Given the description of an element on the screen output the (x, y) to click on. 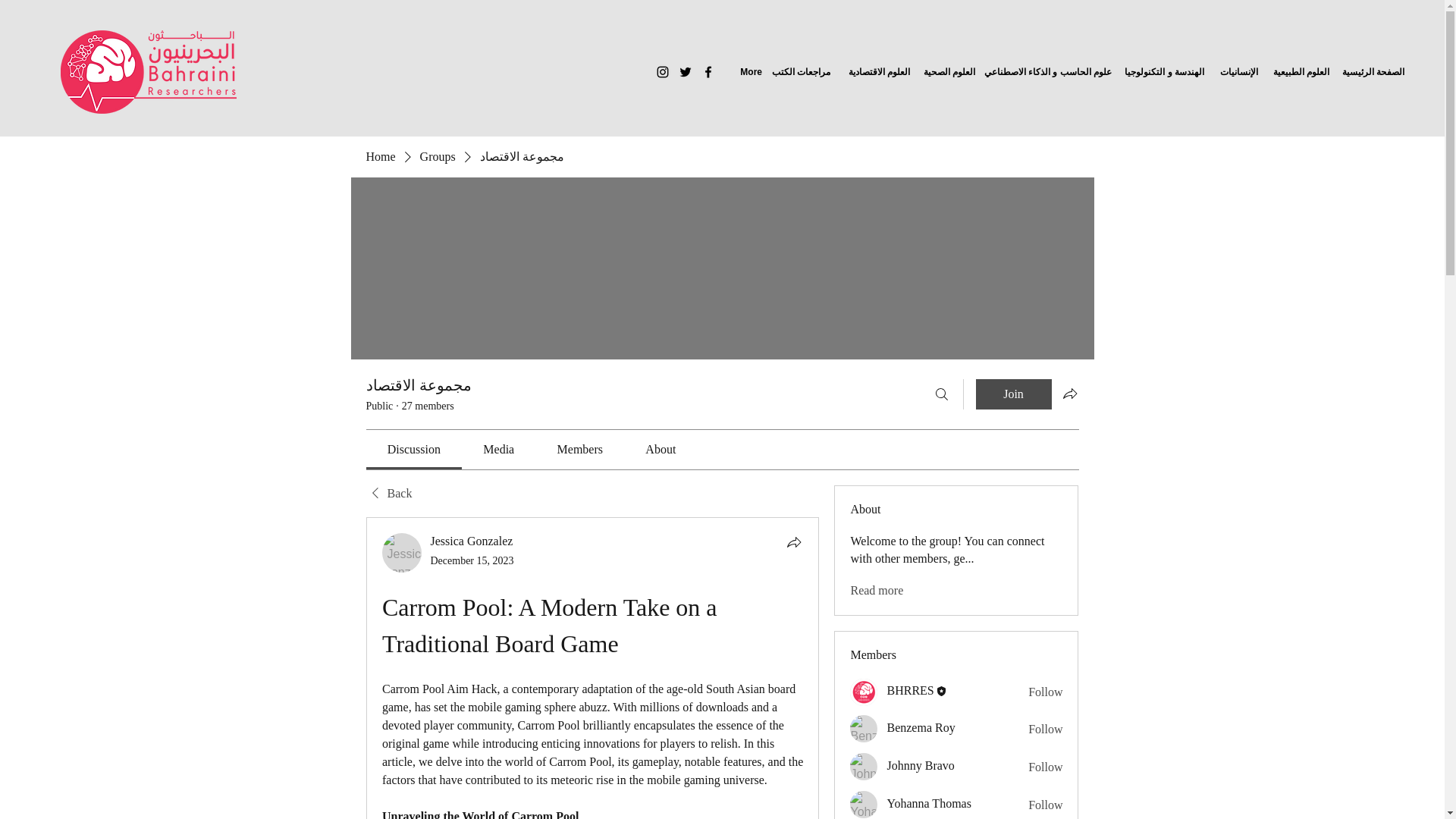
Follow (1044, 692)
BHRRES (909, 689)
Jessica Gonzalez (401, 552)
December 15, 2023 (471, 560)
Groups (437, 156)
Benzema Roy (863, 728)
Home (379, 156)
Back (388, 493)
Read more (876, 590)
Yohanna Thomas (863, 804)
Johnny Bravo (863, 766)
BHRRES (863, 691)
Join (1013, 394)
